Given the description of an element on the screen output the (x, y) to click on. 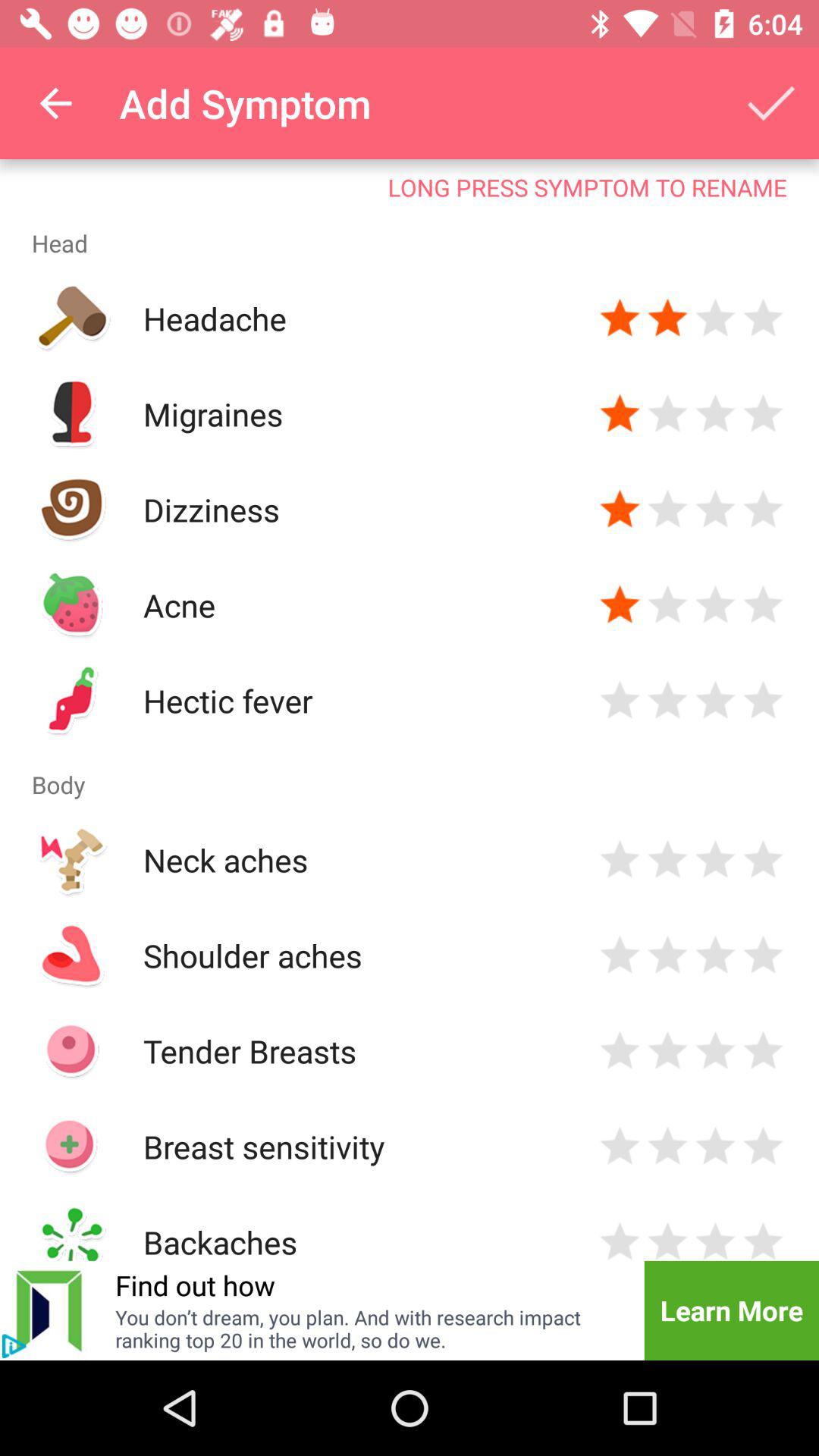
rating (619, 859)
